Given the description of an element on the screen output the (x, y) to click on. 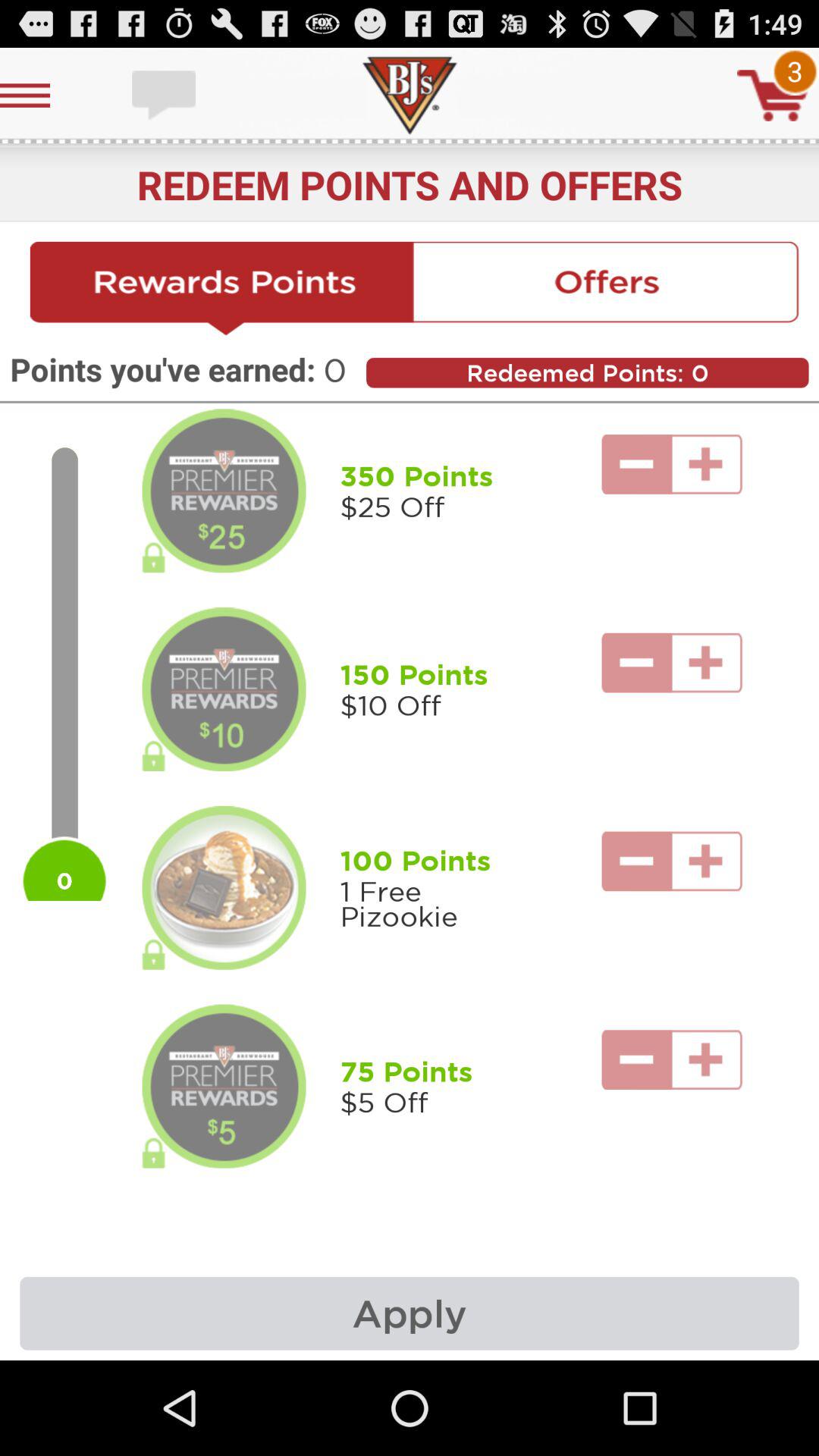
view cart (772, 95)
